Given the description of an element on the screen output the (x, y) to click on. 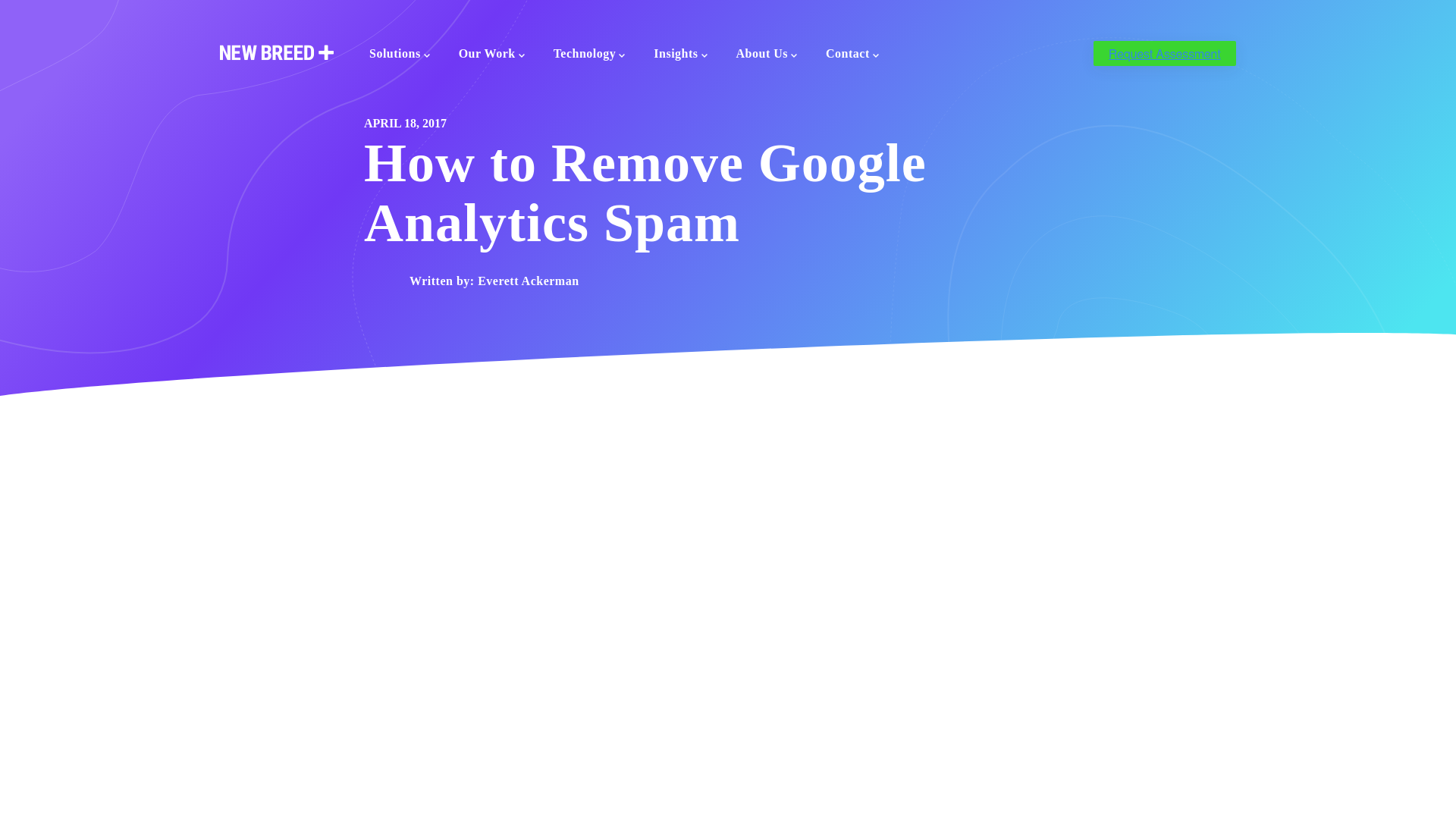
About Us (766, 54)
New Breed Revenue (276, 52)
Contact (852, 54)
Solutions (399, 54)
Technology (590, 54)
Our Work (491, 54)
Insights (680, 54)
New Breed Revenue (276, 54)
